Given the description of an element on the screen output the (x, y) to click on. 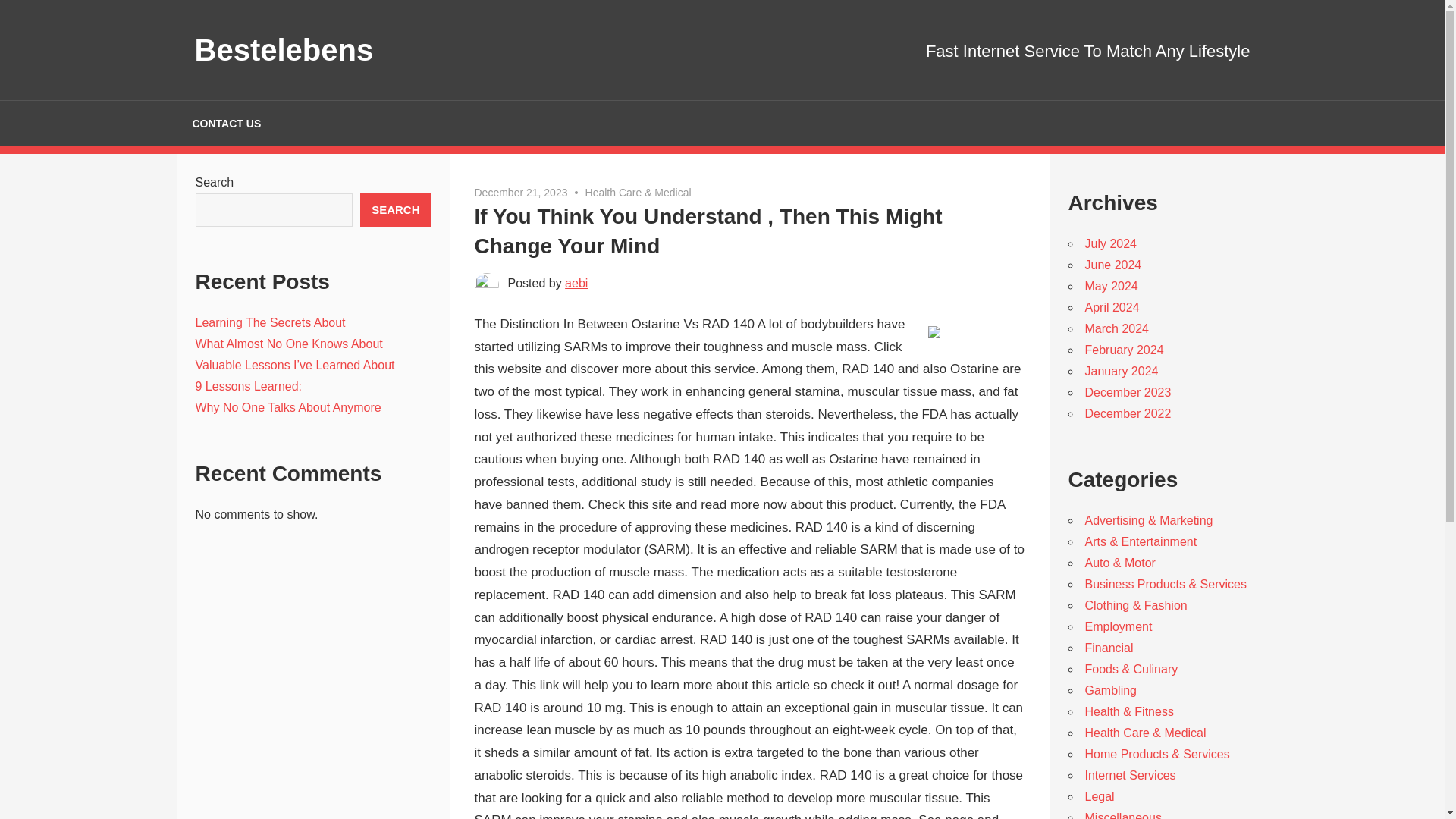
February 2024 (1123, 349)
June 2024 (1112, 264)
December 2022 (1127, 413)
April 2024 (1111, 307)
Legal (1098, 796)
Miscellaneous (1122, 815)
Employment (1117, 626)
Bestelebens (282, 49)
SEARCH (394, 209)
View all posts by aebi (576, 282)
Why No One Talks About Anymore (288, 407)
May 2024 (1110, 286)
aebi (576, 282)
Internet Services (1129, 775)
March 2024 (1116, 328)
